Given the description of an element on the screen output the (x, y) to click on. 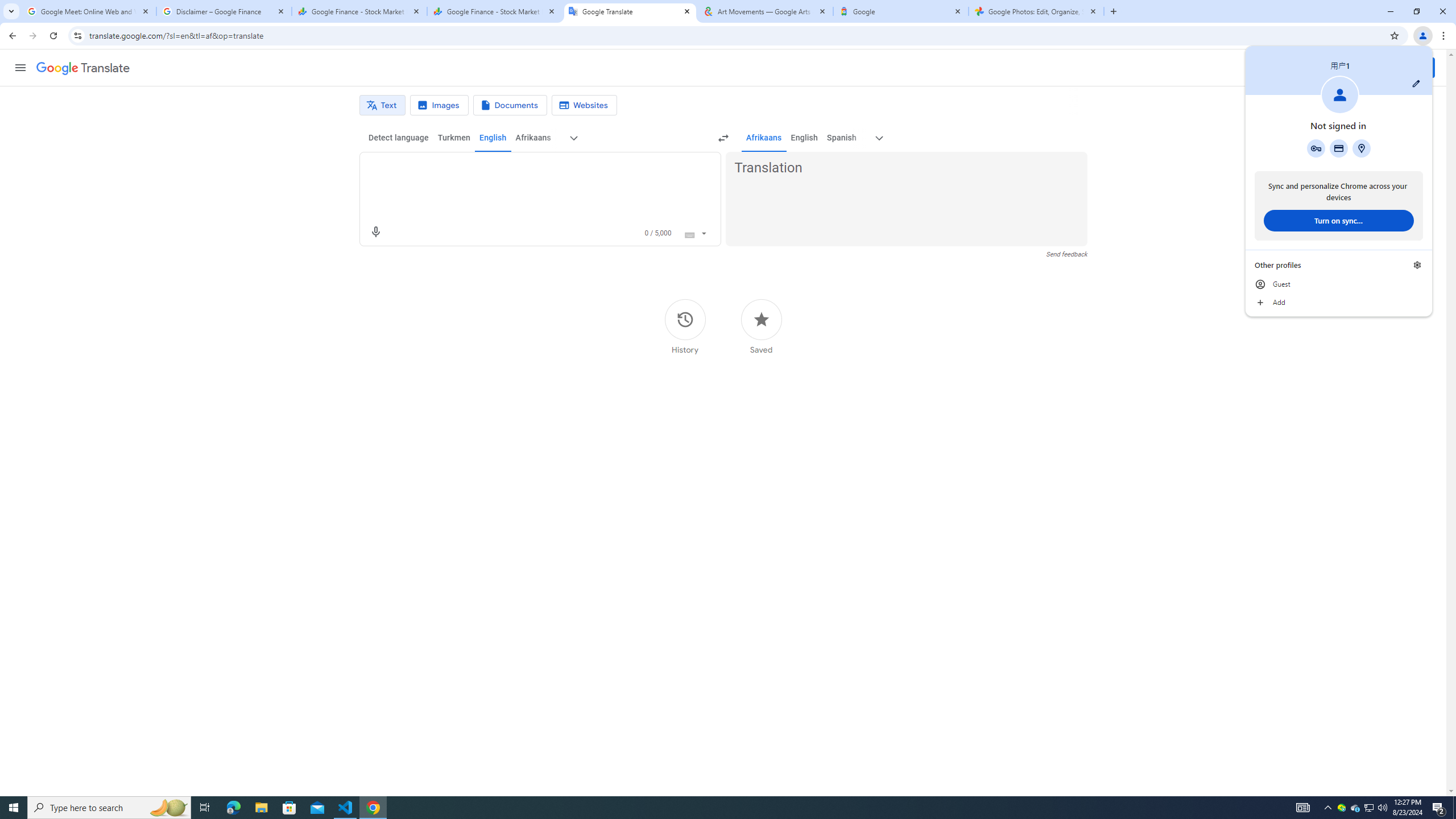
Customize profile (1415, 83)
Detect language (398, 137)
More target languages (879, 137)
Swap languages (Ctrl+Shift+S) (723, 137)
Type here to search (108, 807)
Translate by voice (375, 231)
Show desktop (1454, 807)
Source text (529, 167)
Image translation (439, 105)
